Given the description of an element on the screen output the (x, y) to click on. 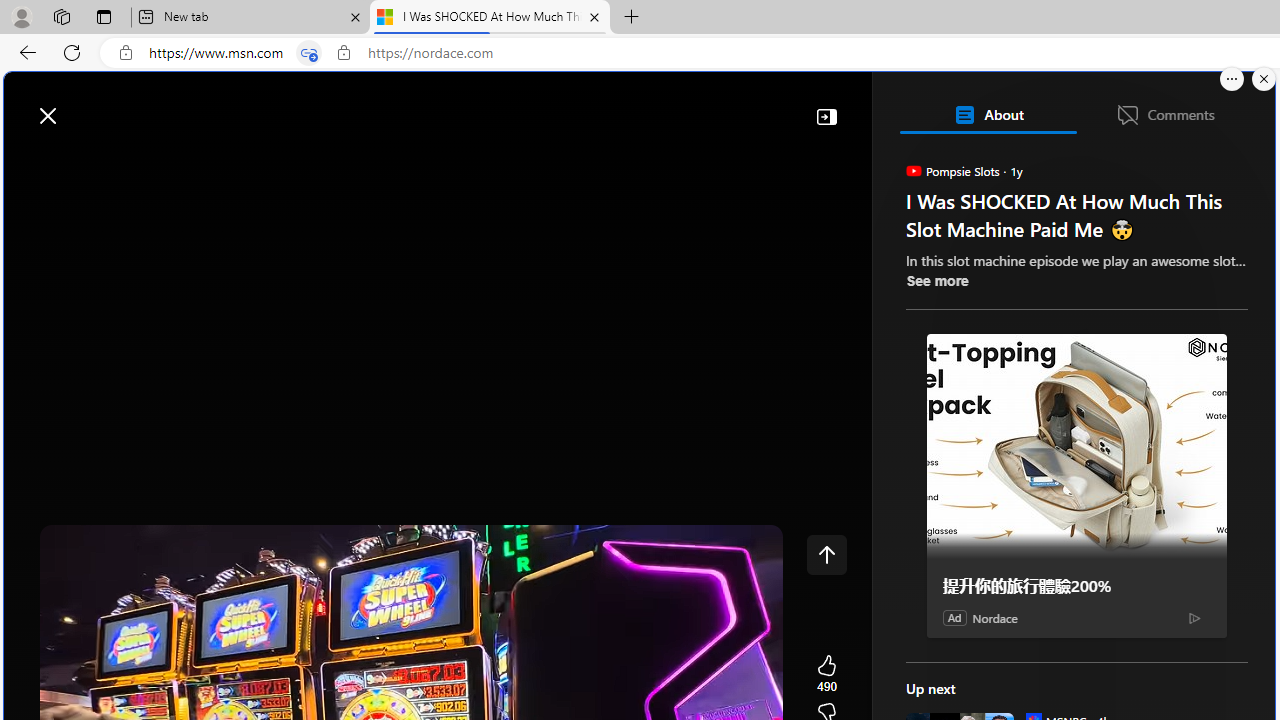
Open settings (1230, 105)
Personalize (1195, 162)
More options. (1232, 79)
Class: button-glyph (29, 162)
490 Like (826, 673)
